Given the description of an element on the screen output the (x, y) to click on. 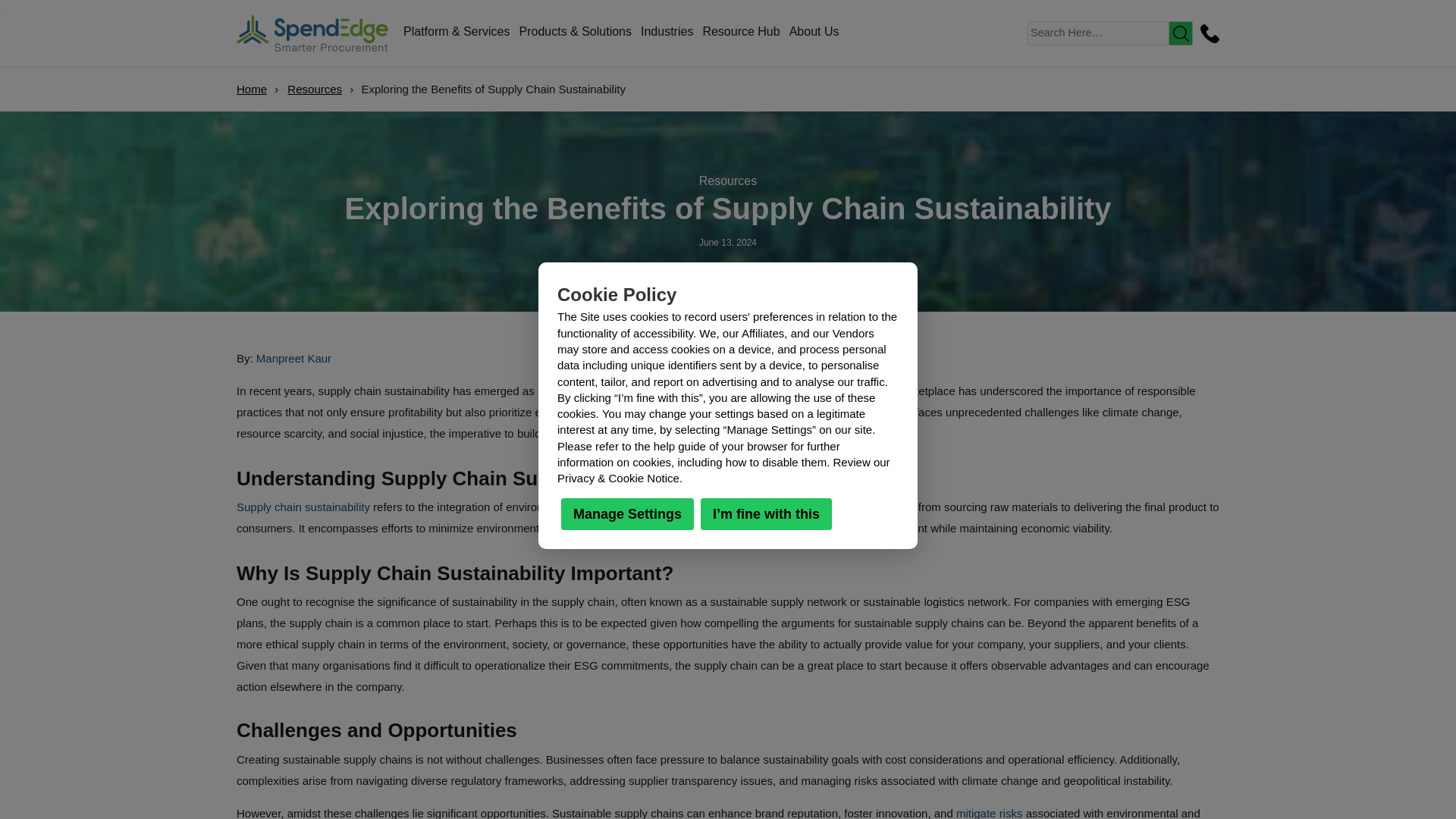
Search (1180, 33)
Search (1180, 33)
Contact Us (1206, 32)
